Given the description of an element on the screen output the (x, y) to click on. 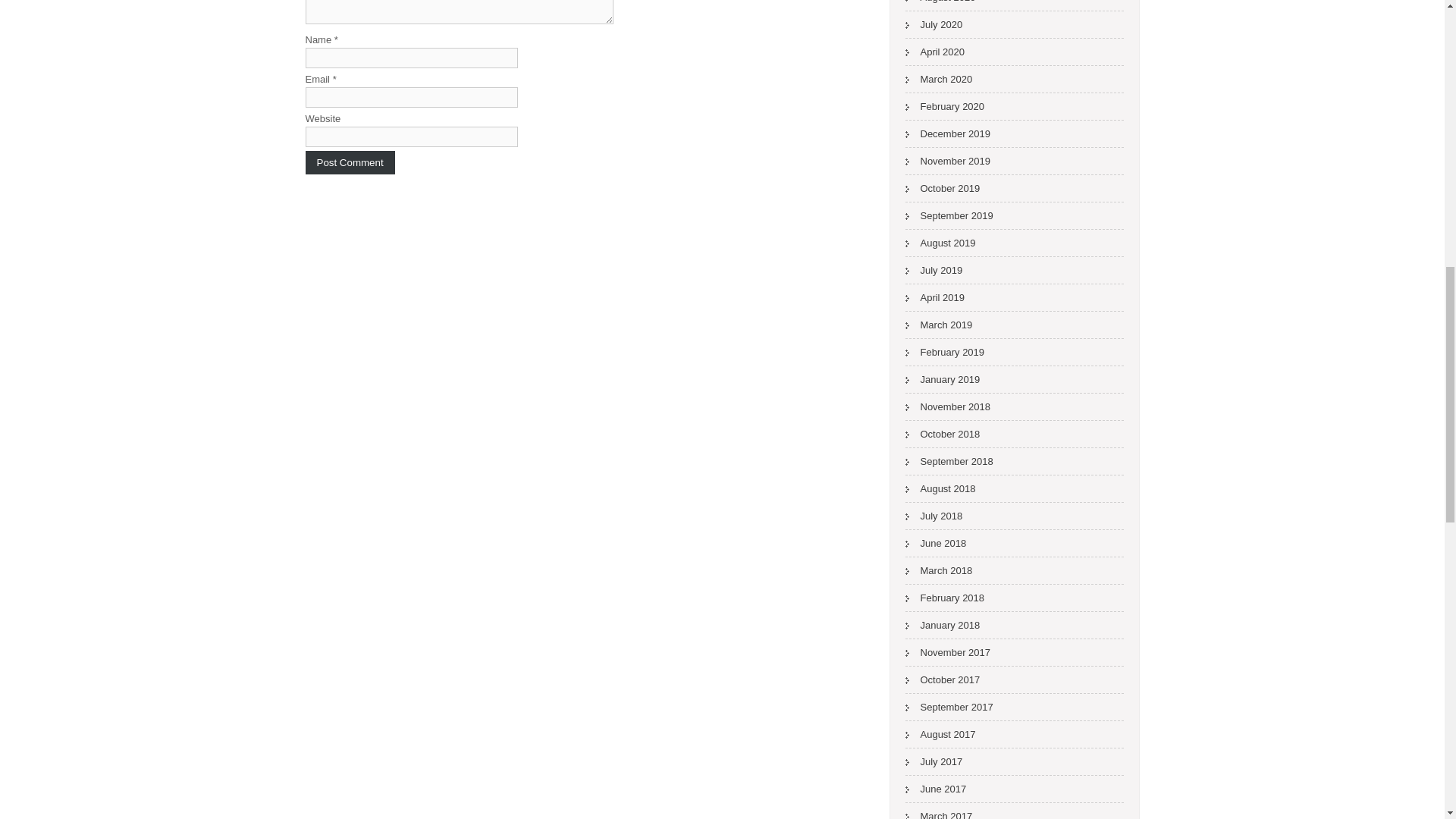
Post Comment (349, 162)
August 2020 (940, 5)
Post Comment (349, 162)
July 2020 (933, 24)
